Given the description of an element on the screen output the (x, y) to click on. 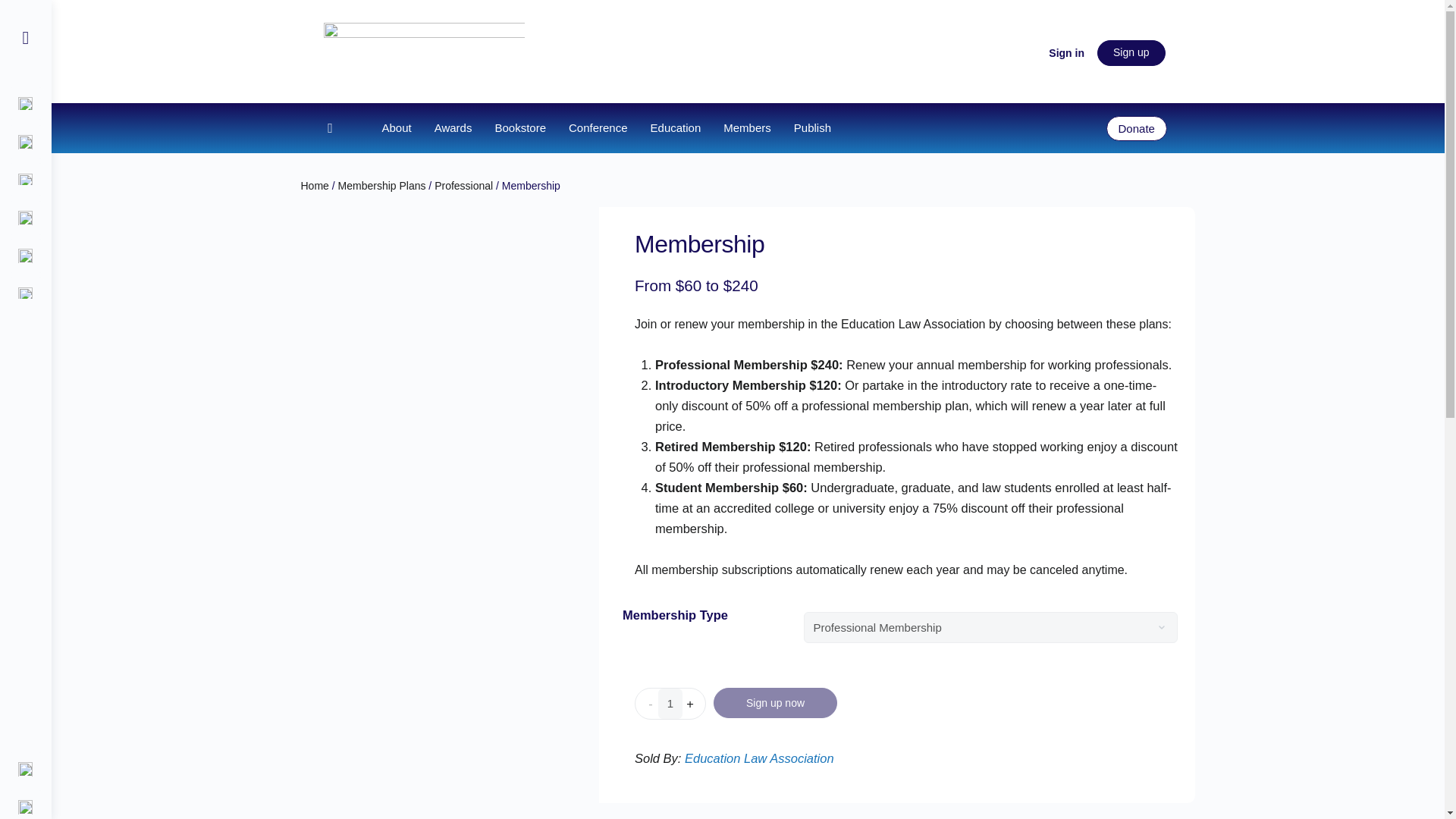
Sign up (1130, 53)
Education Law Association (759, 757)
About (396, 127)
Sign in (1066, 53)
Awards (453, 127)
